Given the description of an element on the screen output the (x, y) to click on. 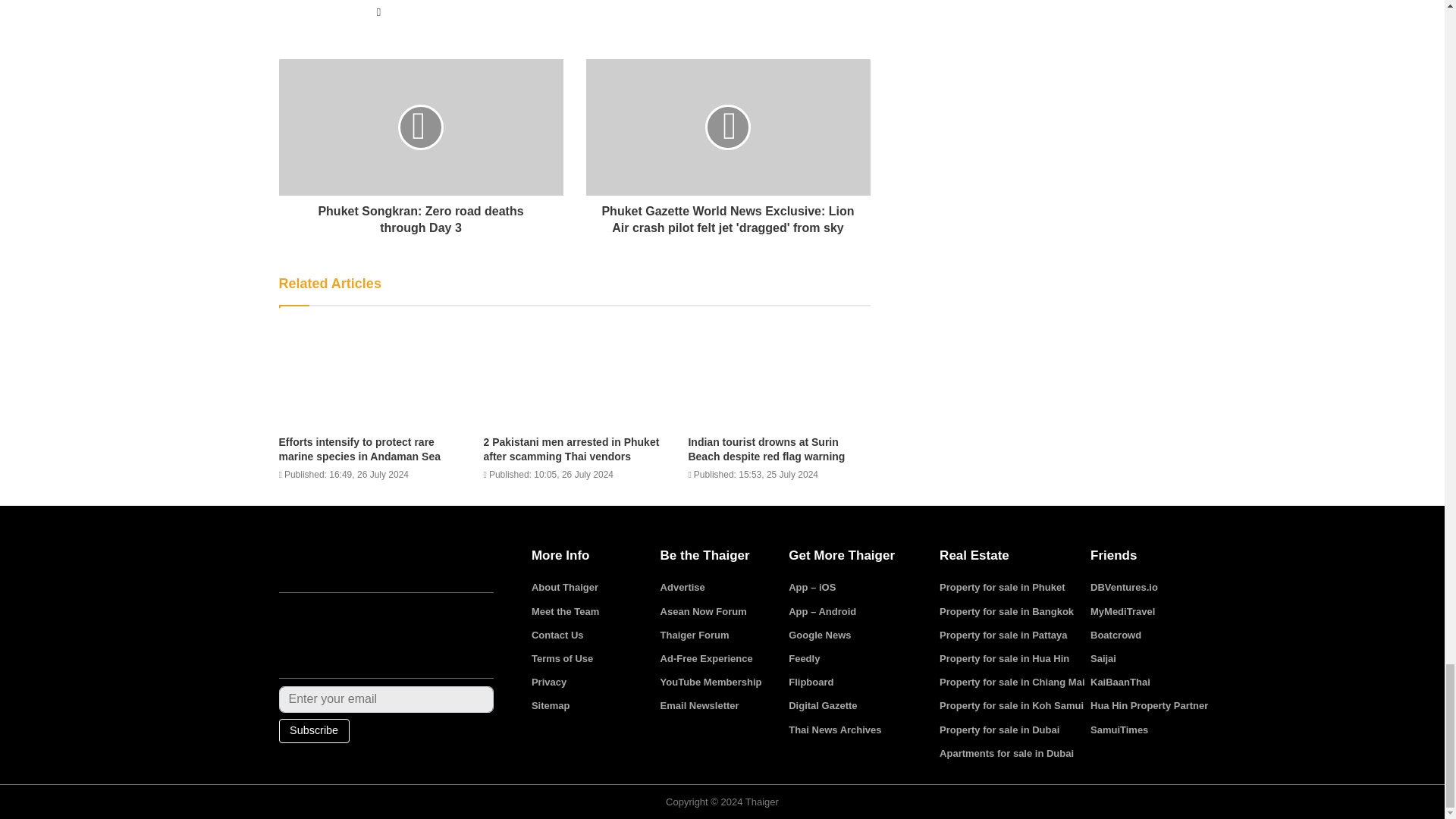
Subscribe (314, 730)
